Given the description of an element on the screen output the (x, y) to click on. 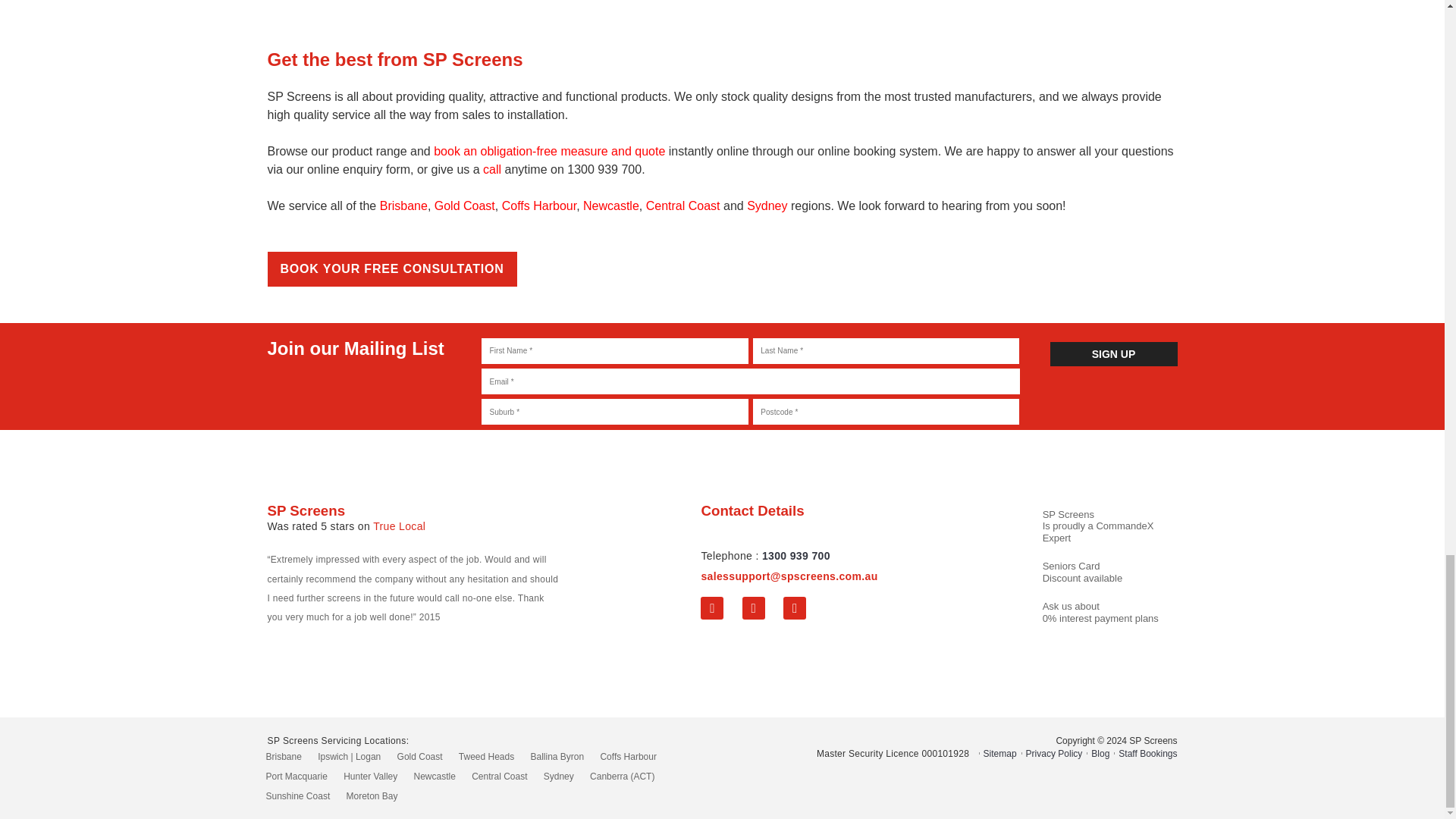
Sign Up (1112, 354)
